Given the description of an element on the screen output the (x, y) to click on. 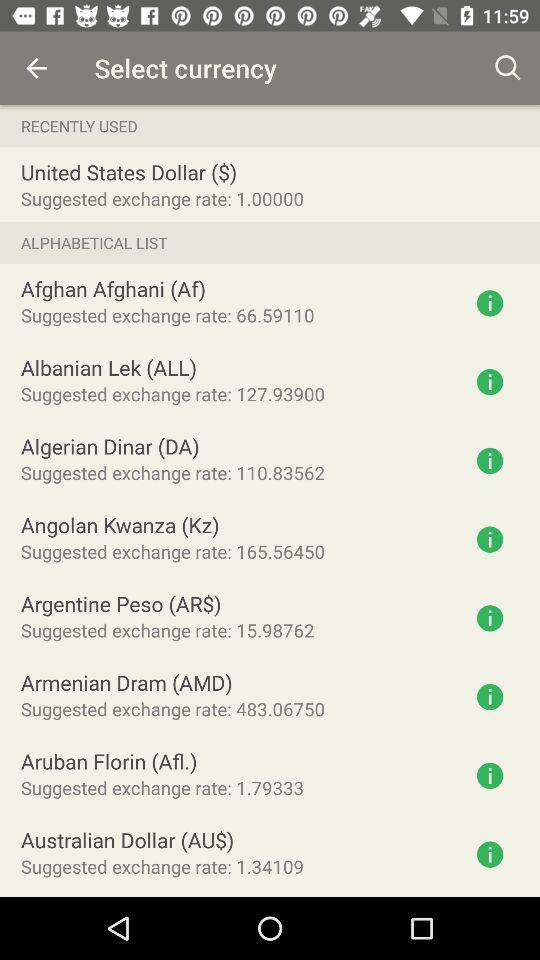
get information (490, 775)
